Given the description of an element on the screen output the (x, y) to click on. 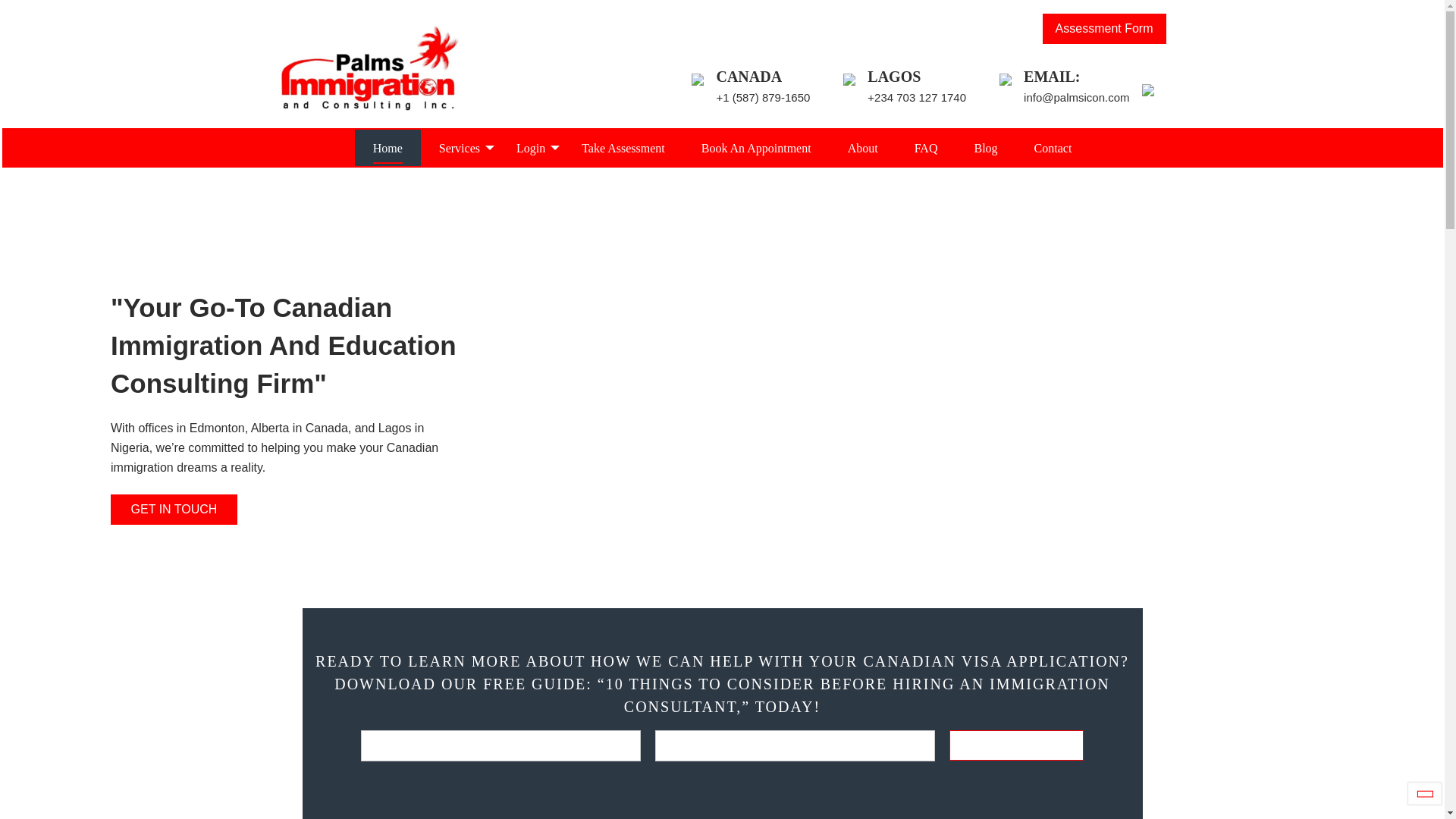
Services (458, 147)
Download (1016, 745)
GET IN TOUCH (173, 509)
Book An Appointment (755, 147)
Blog (984, 147)
Assessment Form (1104, 28)
Contact (1053, 147)
Download (1016, 745)
Take Assessment (622, 147)
Home (387, 147)
About (862, 147)
Login (530, 147)
FAQ (926, 147)
